Given the description of an element on the screen output the (x, y) to click on. 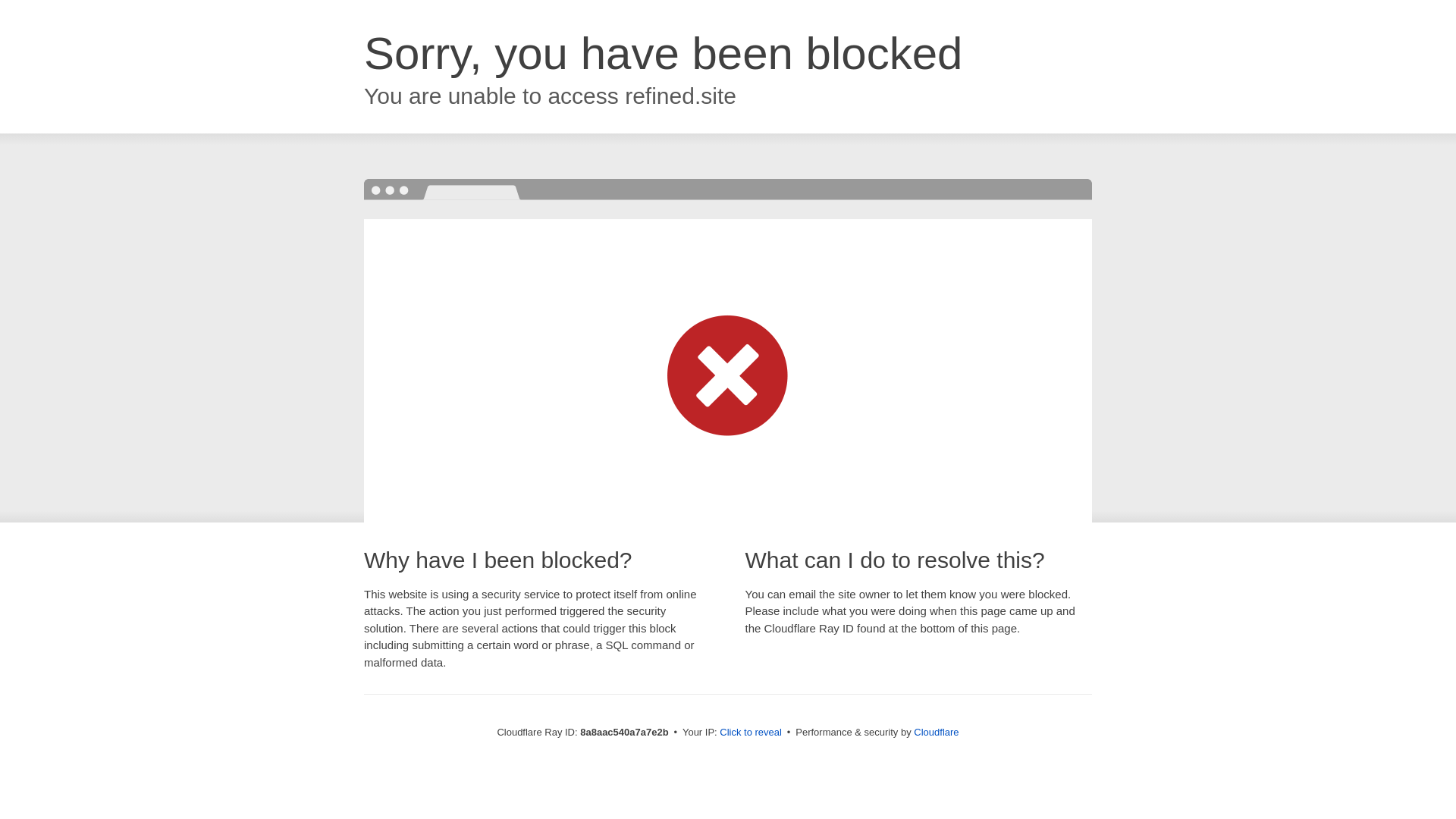
Click to reveal (750, 732)
Cloudflare (936, 731)
